Given the description of an element on the screen output the (x, y) to click on. 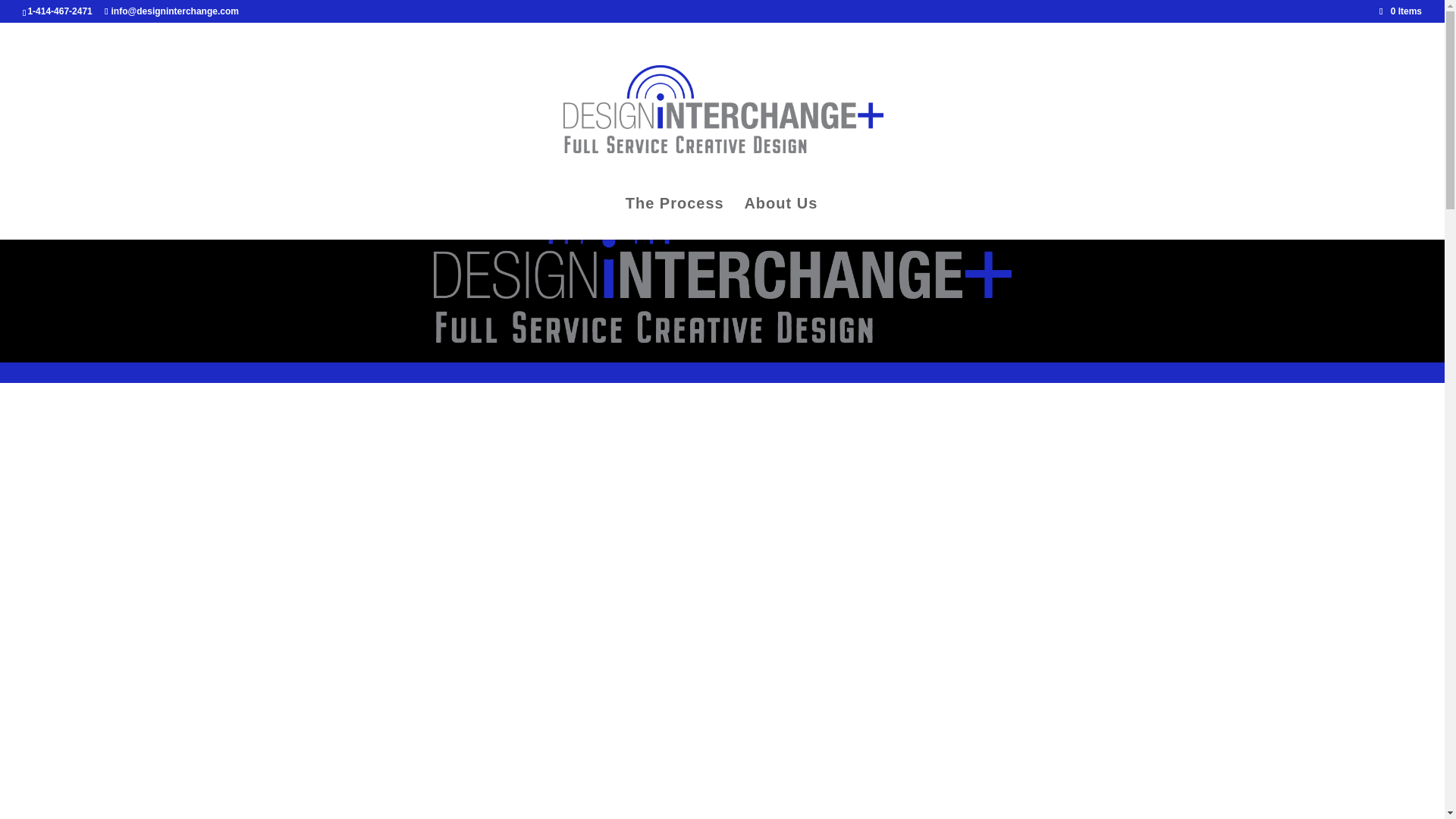
The Process (674, 218)
About Us (780, 218)
0 Items (1400, 10)
